Given the description of an element on the screen output the (x, y) to click on. 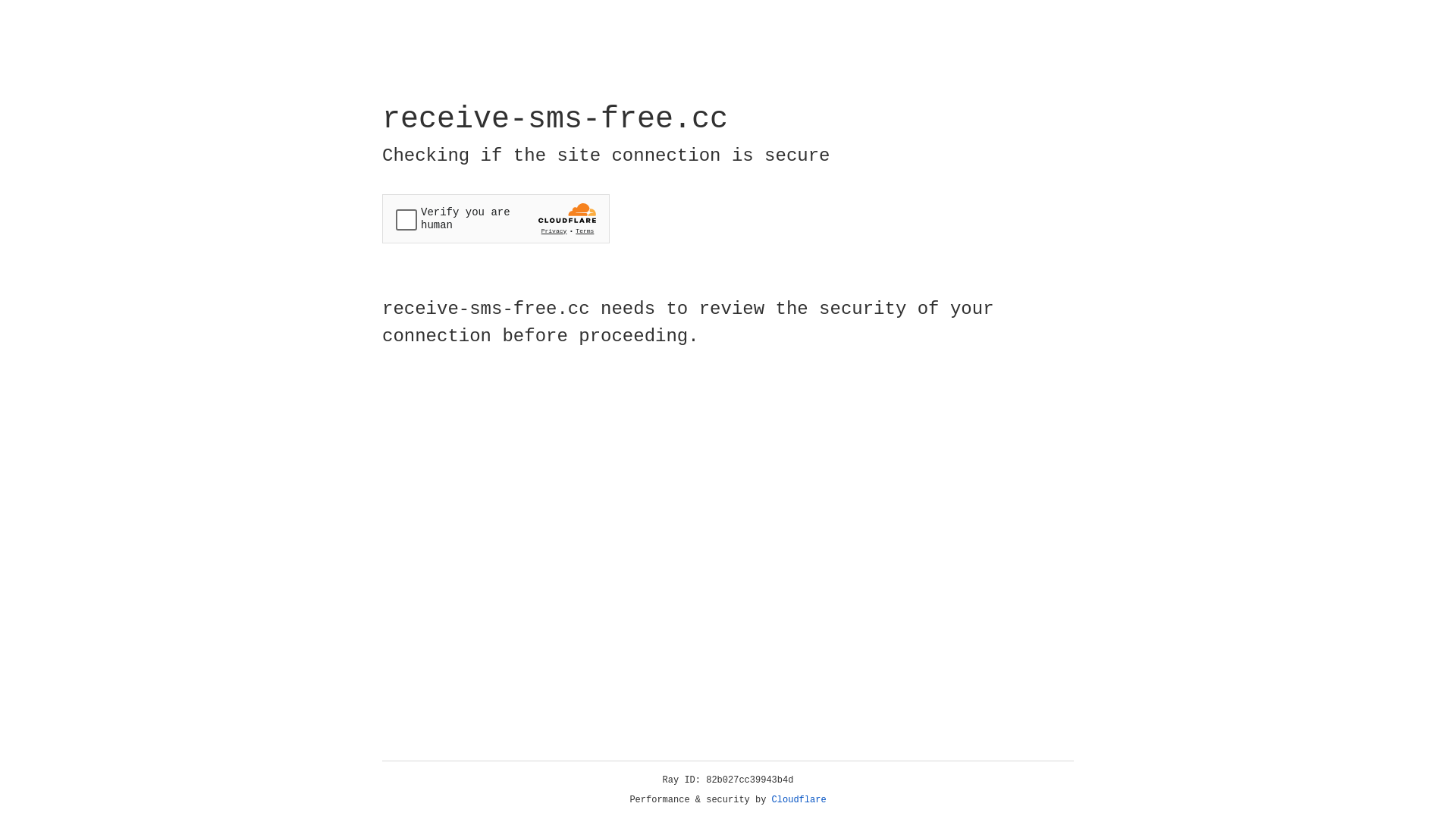
Cloudflare Element type: text (798, 799)
Widget containing a Cloudflare security challenge Element type: hover (495, 218)
